Given the description of an element on the screen output the (x, y) to click on. 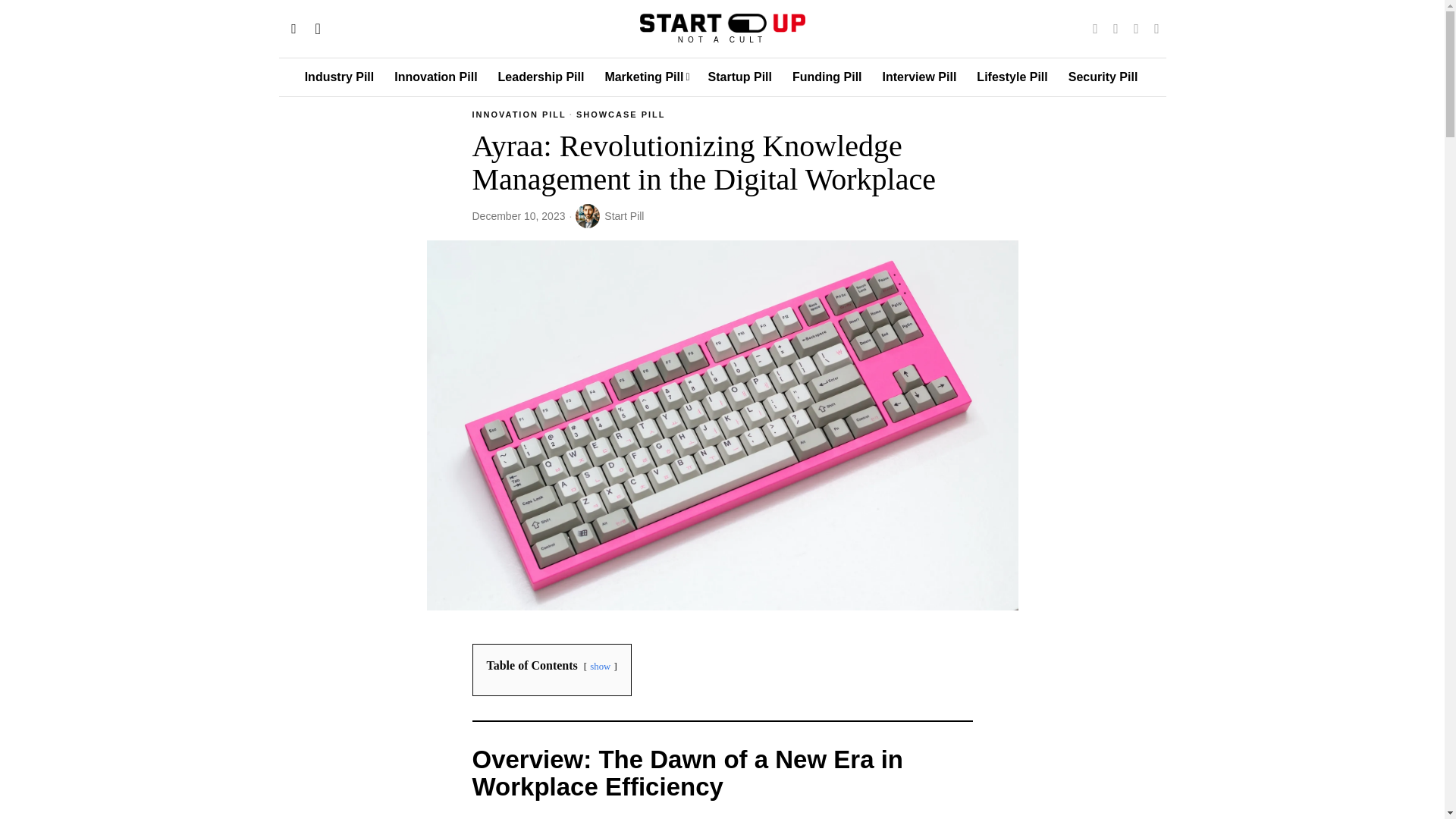
Lifestyle Pill (1013, 77)
Innovation Pill (436, 77)
Interview Pill (920, 77)
Leadership Pill (542, 77)
Industry Pill (340, 77)
Start Pill (609, 215)
INNOVATION PILL (518, 115)
Security Pill (1104, 77)
Marketing Pill (646, 77)
Funding Pill (828, 77)
